Given the description of an element on the screen output the (x, y) to click on. 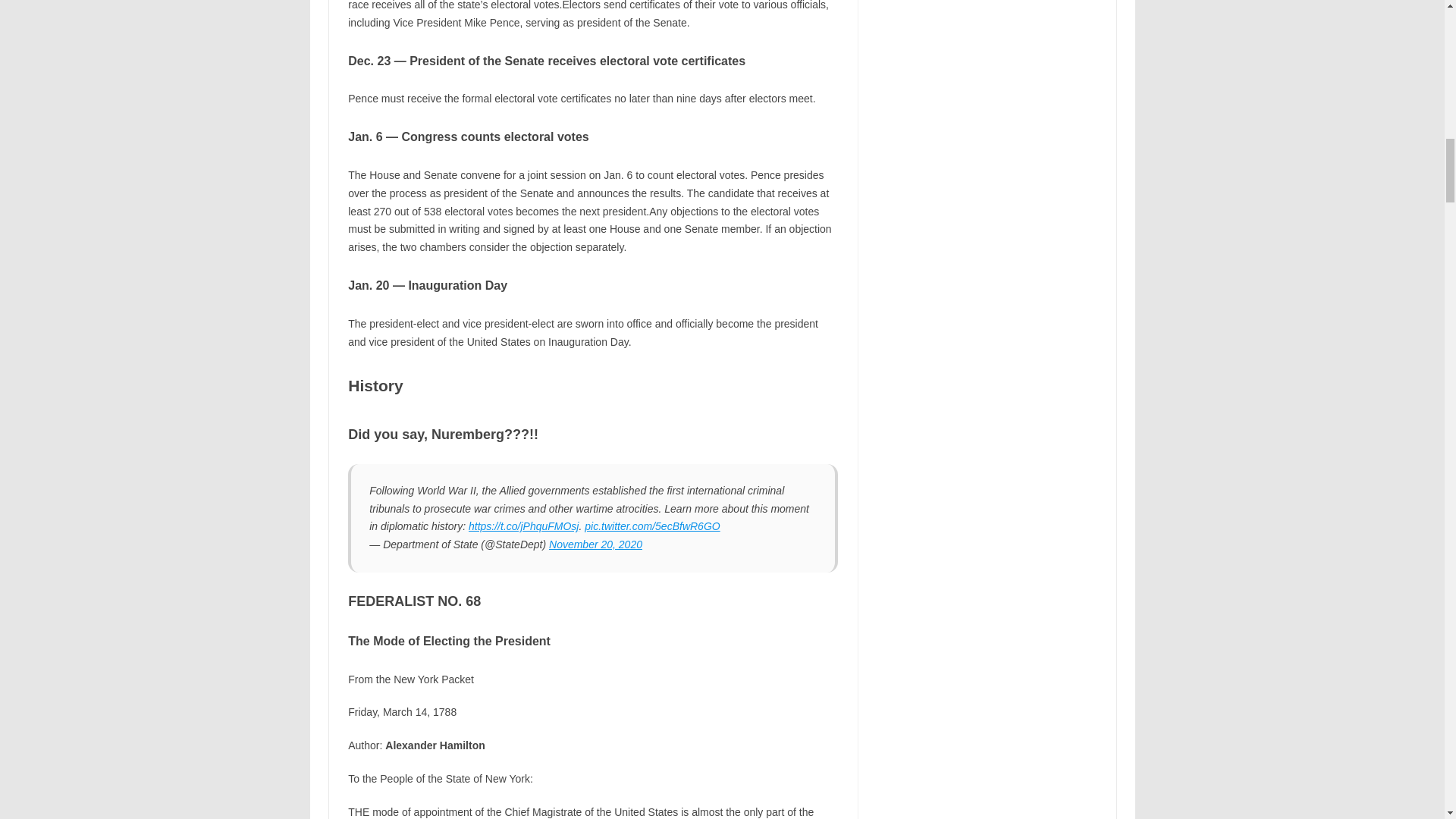
November 20, 2020 (595, 544)
